Given the description of an element on the screen output the (x, y) to click on. 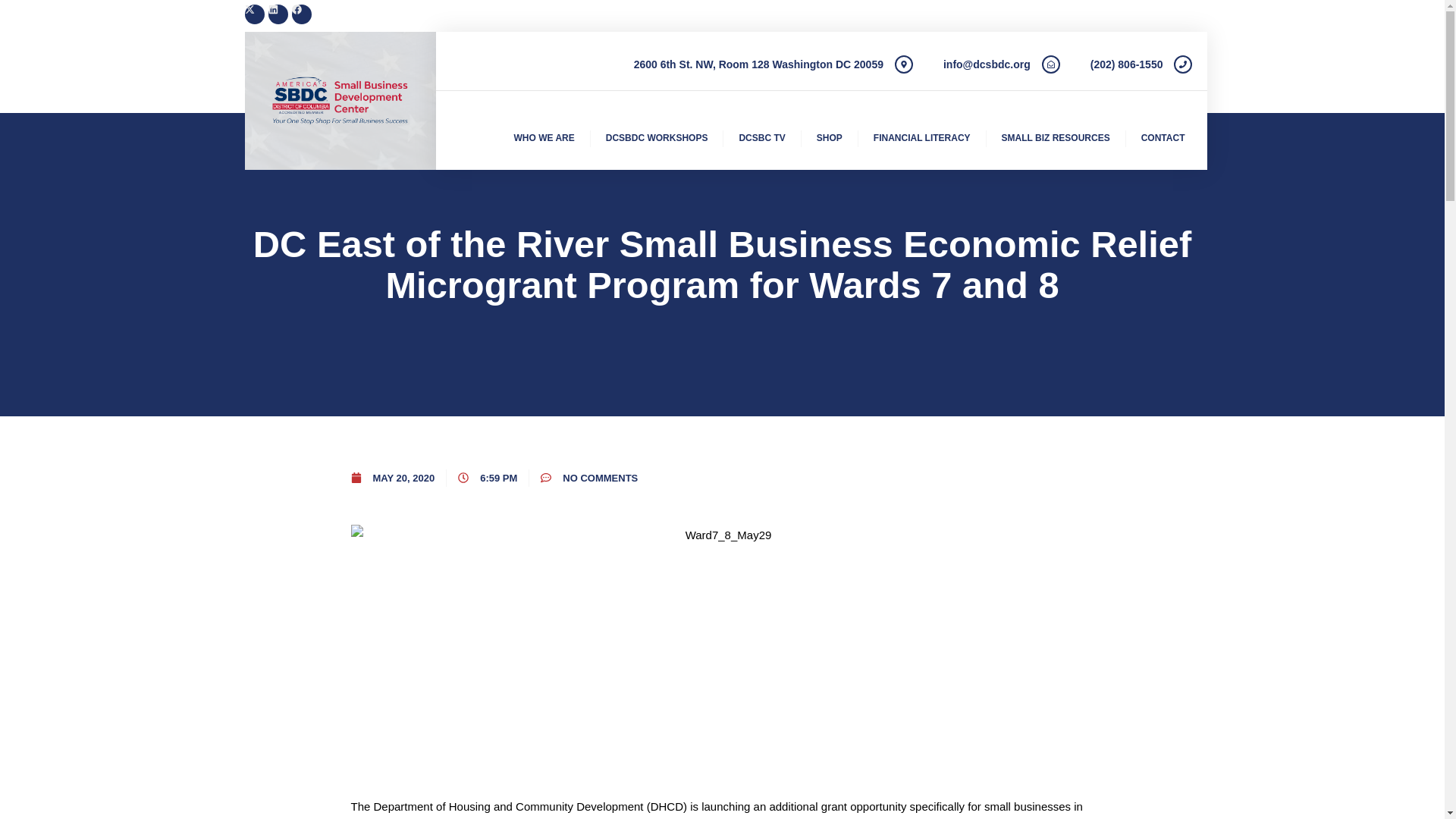
CONTACT (1162, 138)
SMALL BIZ RESOURCES (1056, 138)
OUR SERVICES (972, 44)
NO COMMENTS (588, 477)
OUR STORY (1069, 44)
MAY 20, 2020 (391, 477)
SHOP (829, 138)
CONTACT US (1160, 44)
FINANCIAL LITERACY (922, 138)
WHO WE ARE (544, 138)
